Given the description of an element on the screen output the (x, y) to click on. 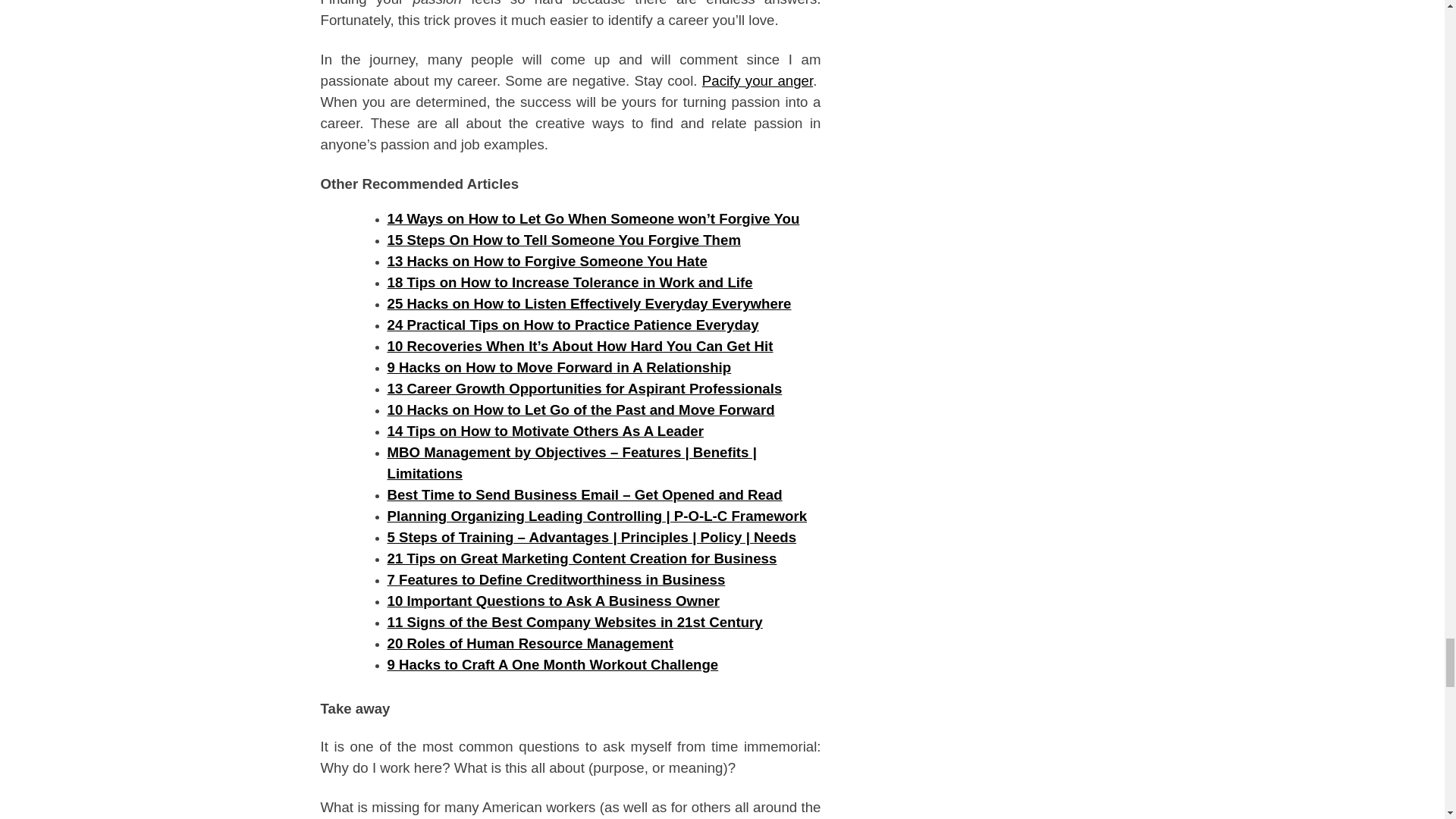
13 Hacks on How to Forgive Someone You Hate (546, 261)
10 Hacks on How to Let Go of the Past and Move Forward (580, 409)
18 Tips on How to Increase Tolerance in Work and Life (569, 282)
25 Hacks on How to Listen Effectively Everyday Everywhere (588, 303)
9 Hacks on How to Move Forward in A Relationship (558, 367)
13 Career Growth Opportunities for Aspirant Professionals (584, 388)
Pacify your anger (756, 80)
15 Steps On How to Tell Someone You Forgive Them (563, 239)
14 Tips on How to Motivate Others As A Leader (545, 430)
24 Practical Tips on How to Practice Patience Everyday (572, 324)
